Given the description of an element on the screen output the (x, y) to click on. 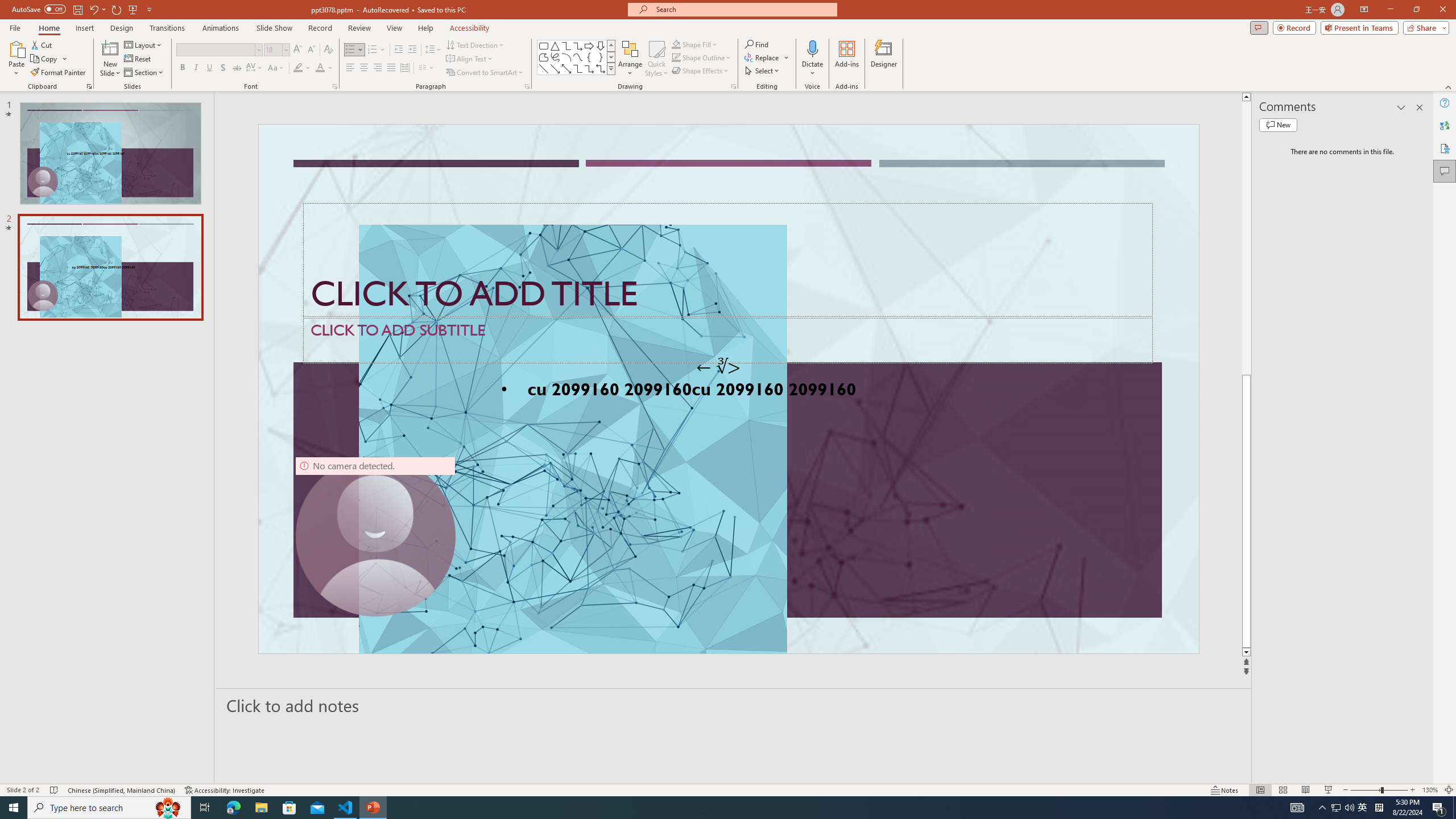
Row up (611, 45)
Arrow: Down (600, 45)
Justify (390, 67)
Line Arrow: Double (566, 68)
Share (1423, 27)
Quick Styles (656, 58)
Title TextBox (727, 260)
Convert to SmartArt (485, 72)
Font Color Red (320, 67)
Align Text (470, 58)
Right Brace (600, 57)
Connector: Elbow (577, 68)
Zoom (1379, 790)
